Given the description of an element on the screen output the (x, y) to click on. 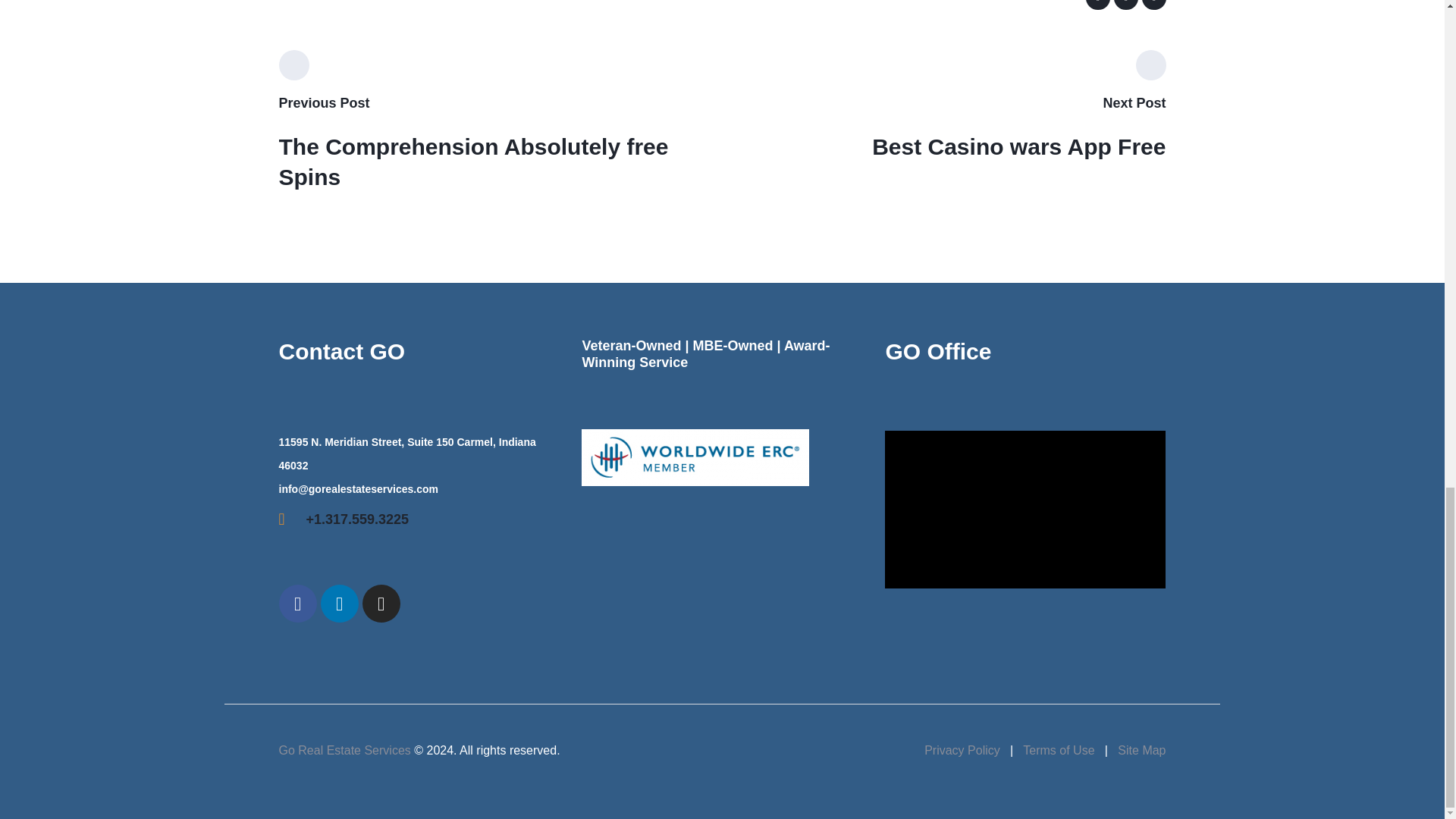
vimeo Video Player (1025, 509)
